Given the description of an element on the screen output the (x, y) to click on. 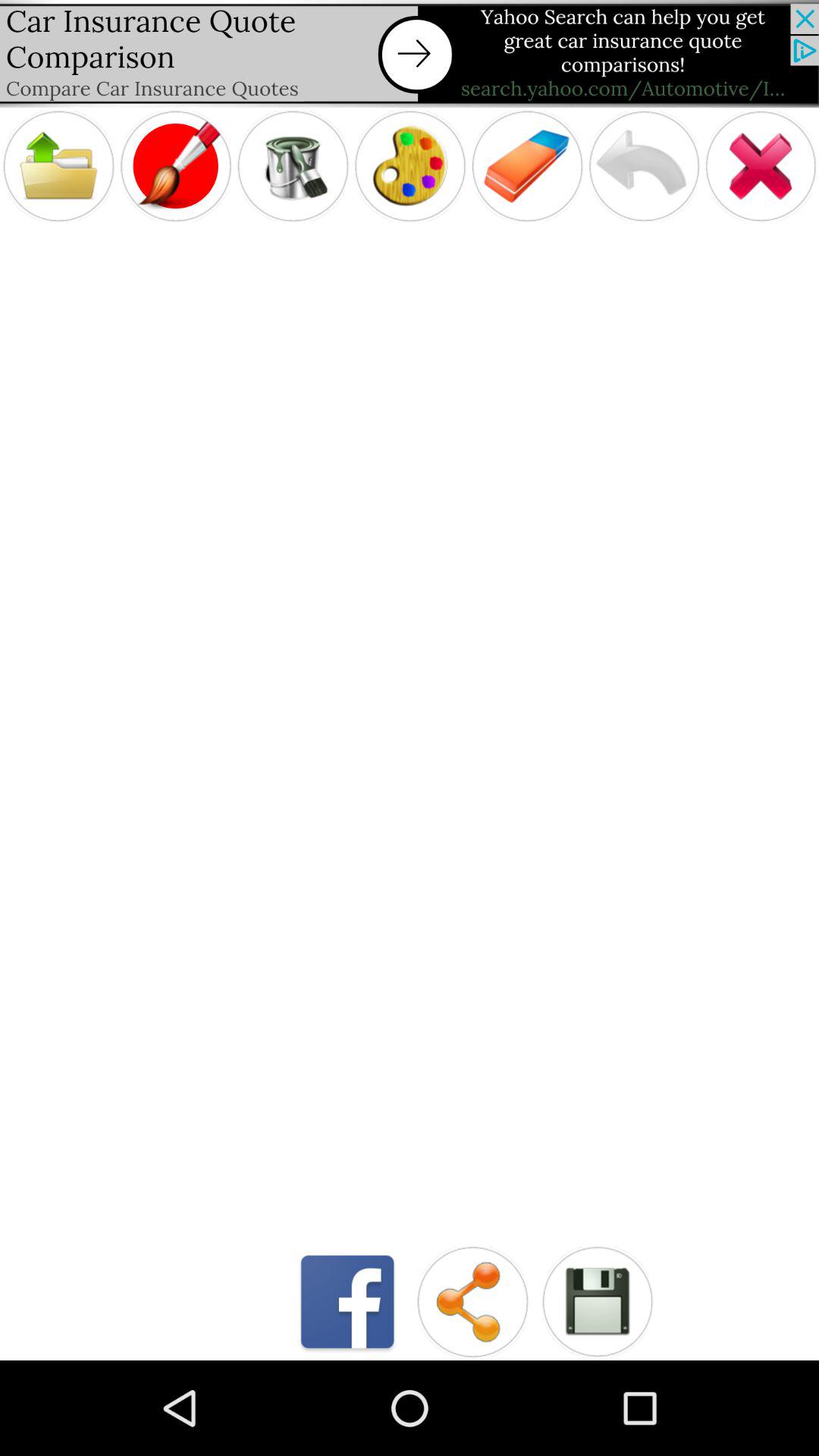
paint (409, 165)
